Given the description of an element on the screen output the (x, y) to click on. 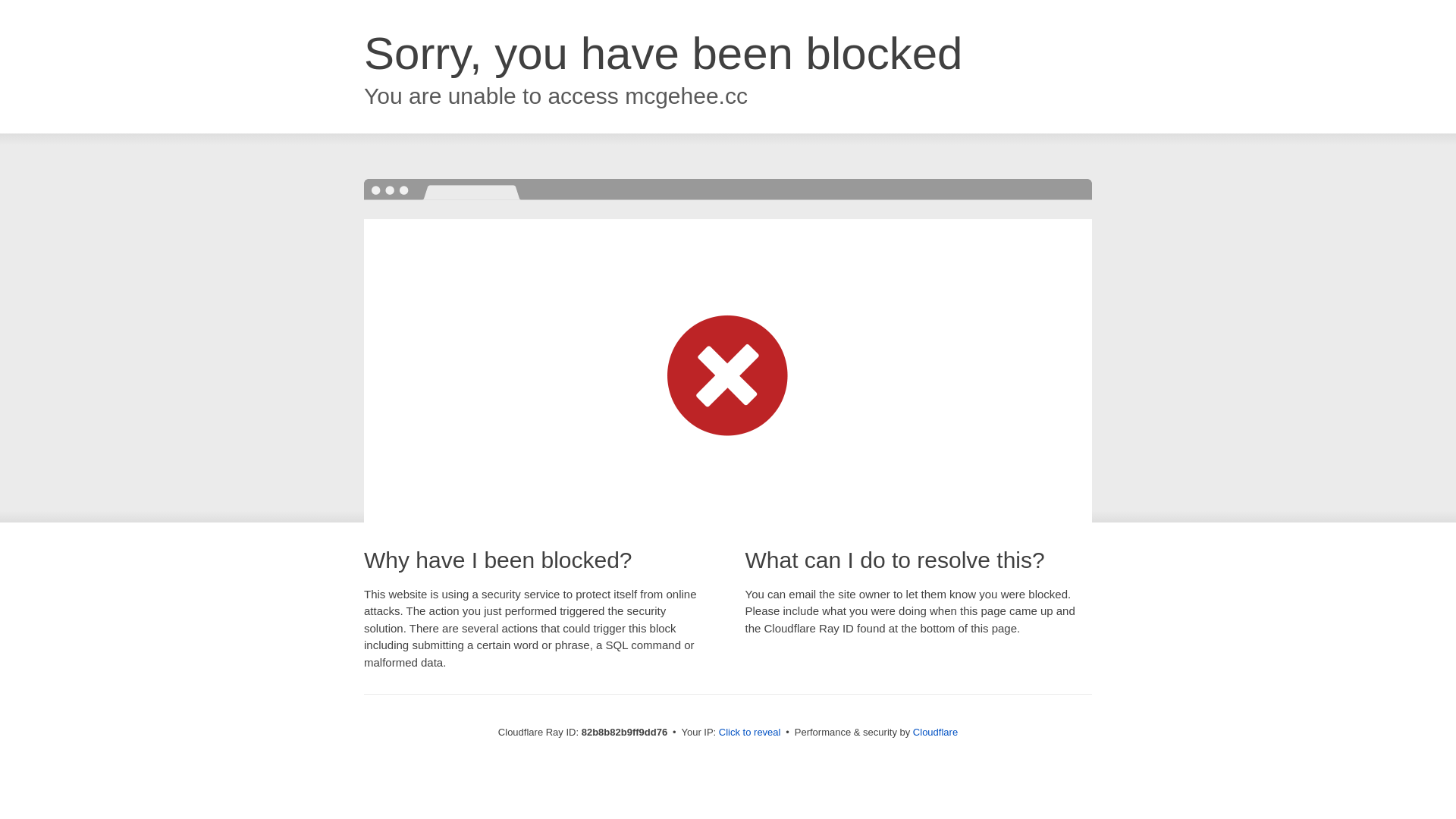
Click to reveal Element type: text (749, 732)
Cloudflare Element type: text (935, 731)
